Given the description of an element on the screen output the (x, y) to click on. 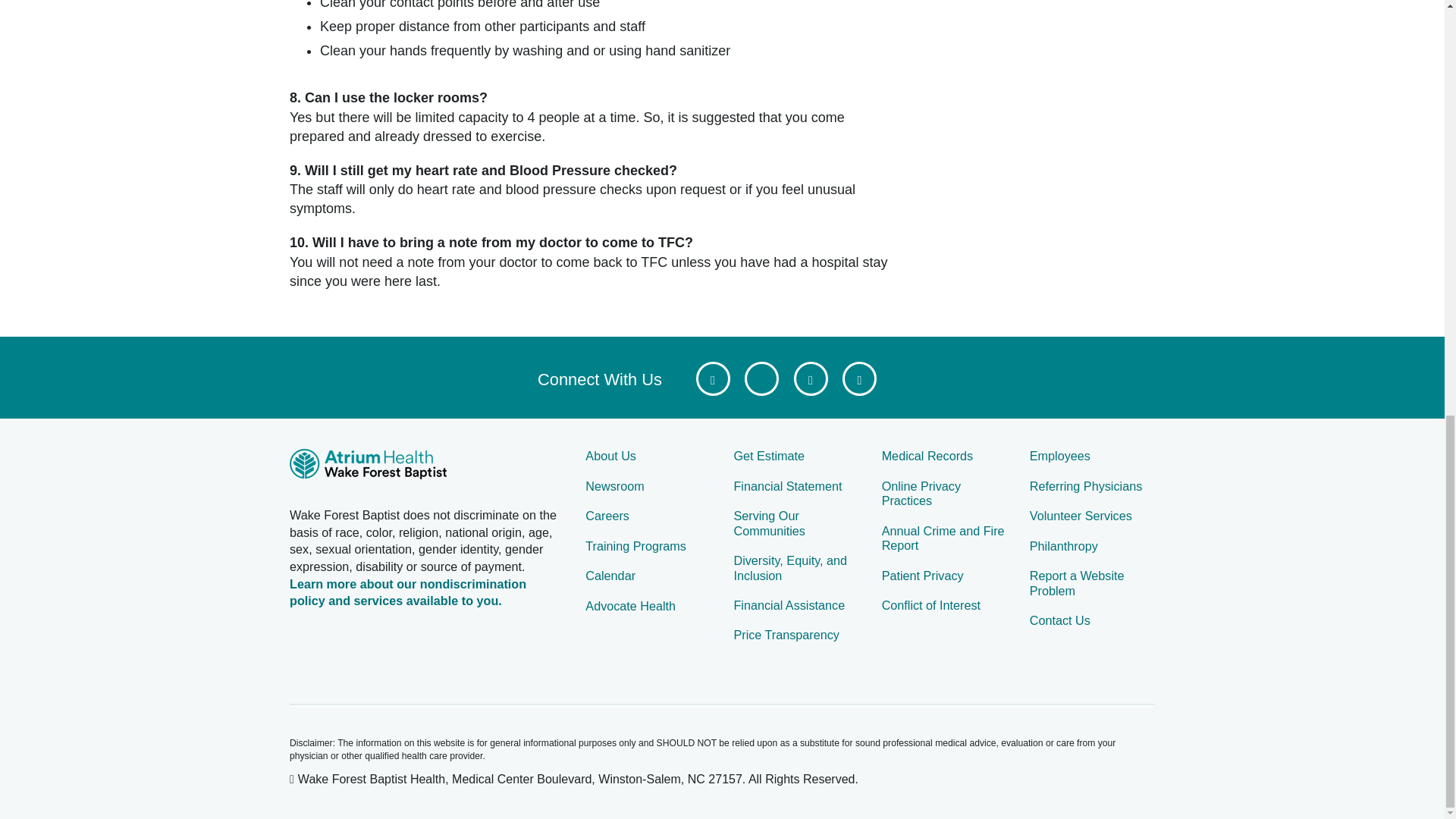
Instagram (859, 378)
facebook (712, 378)
twitter (761, 378)
YouTube (810, 378)
Atrium Health Wake Forest Baptist (425, 466)
